Given the description of an element on the screen output the (x, y) to click on. 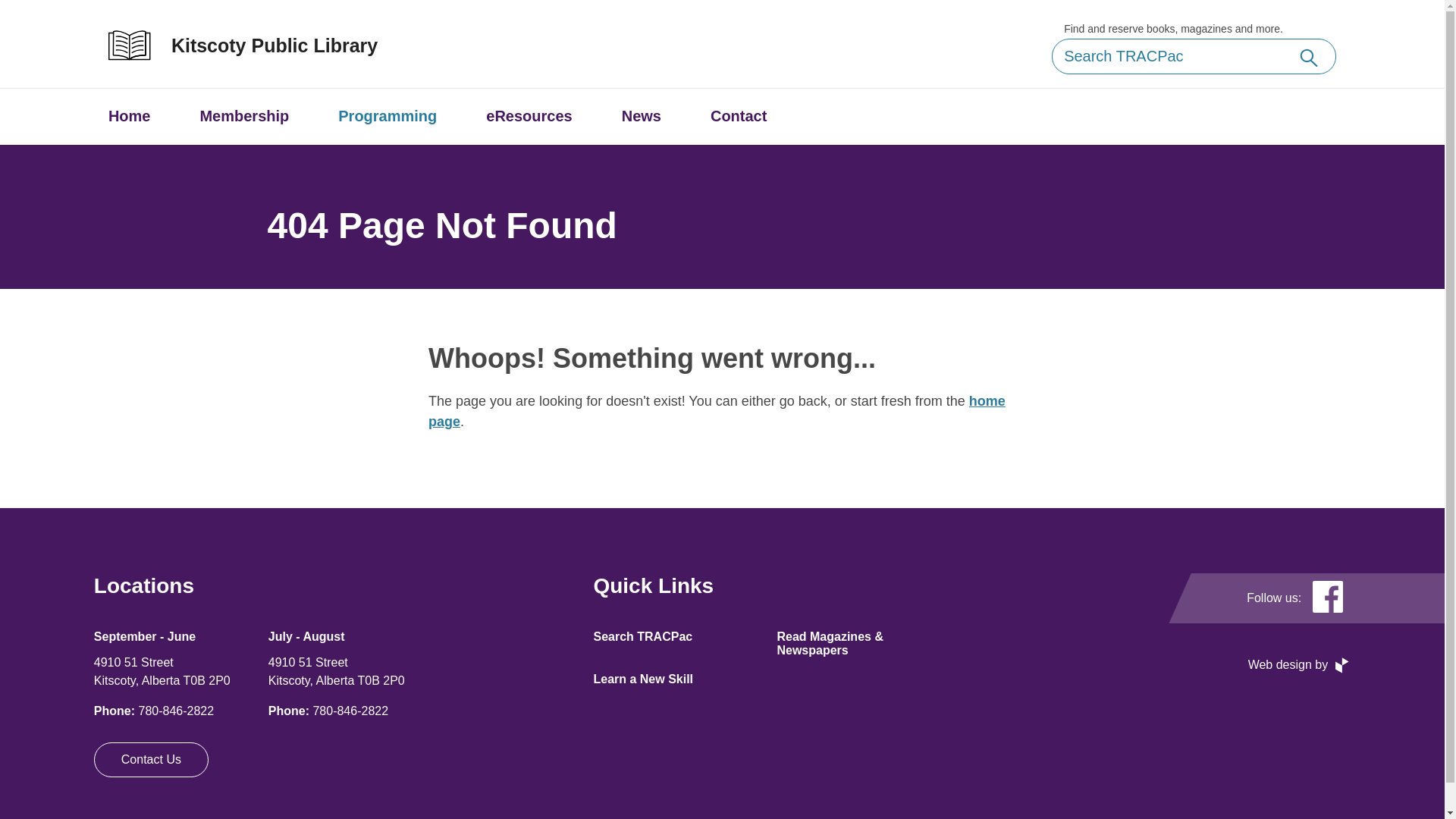
Programming Element type: text (387, 116)
eResources Element type: text (528, 116)
Home Element type: text (129, 116)
Contact Us Element type: text (151, 759)
home page Element type: text (716, 411)
Kitscoty Public Library Element type: text (257, 45)
Contact Element type: text (738, 116)
Search TRACPac Element type: text (642, 636)
News Element type: text (641, 116)
Read Magazines & Newspapers Element type: text (829, 643)
Learn a New Skill Element type: text (643, 678)
Membership Element type: text (243, 116)
Facebook page Element type: hover (1327, 597)
Web design by Element type: text (1299, 664)
